Given the description of an element on the screen output the (x, y) to click on. 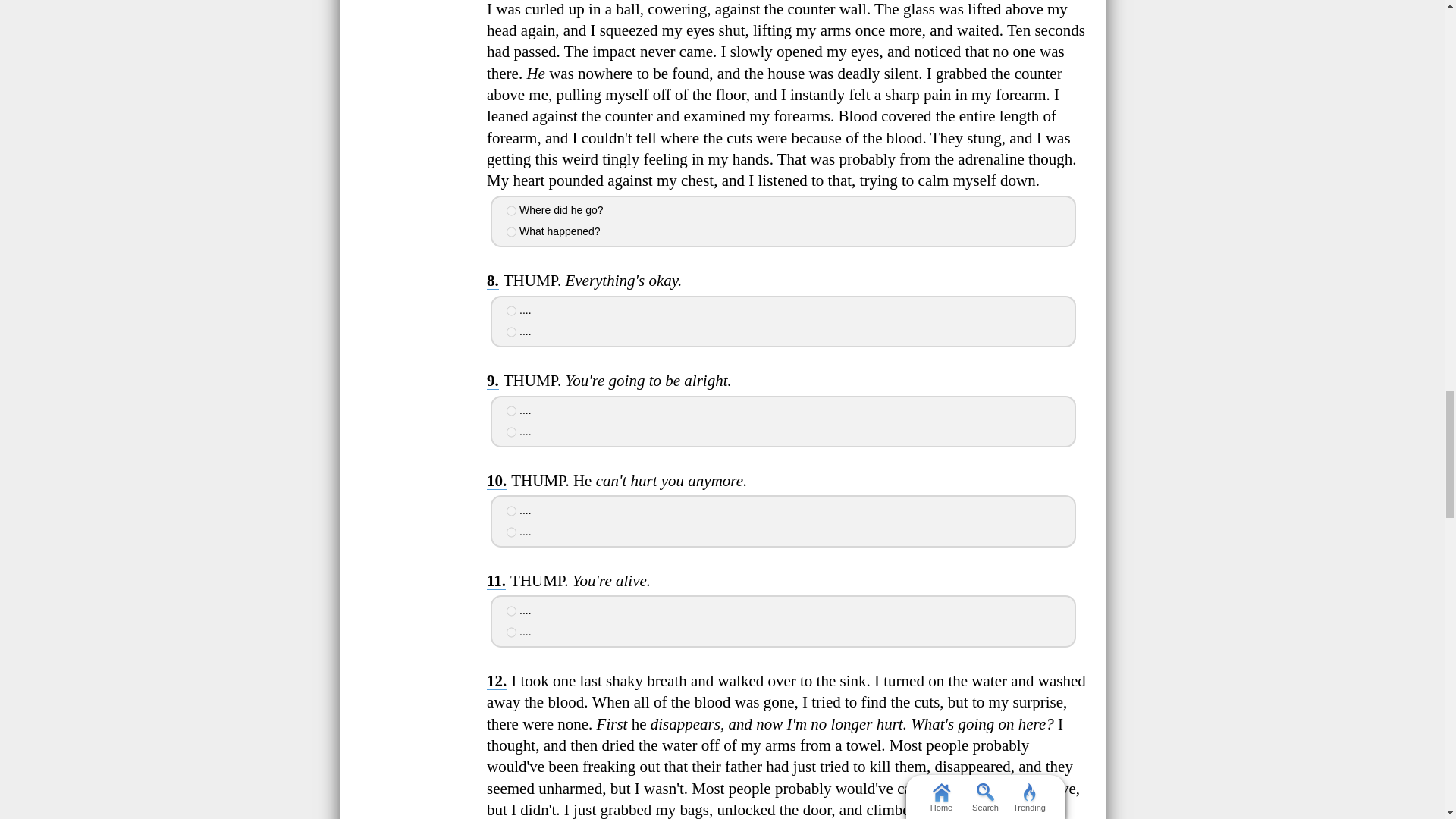
2 (511, 331)
1 (511, 410)
2 (511, 231)
1 (511, 210)
2 (511, 431)
1 (511, 310)
1 (511, 511)
2 (511, 532)
